Given the description of an element on the screen output the (x, y) to click on. 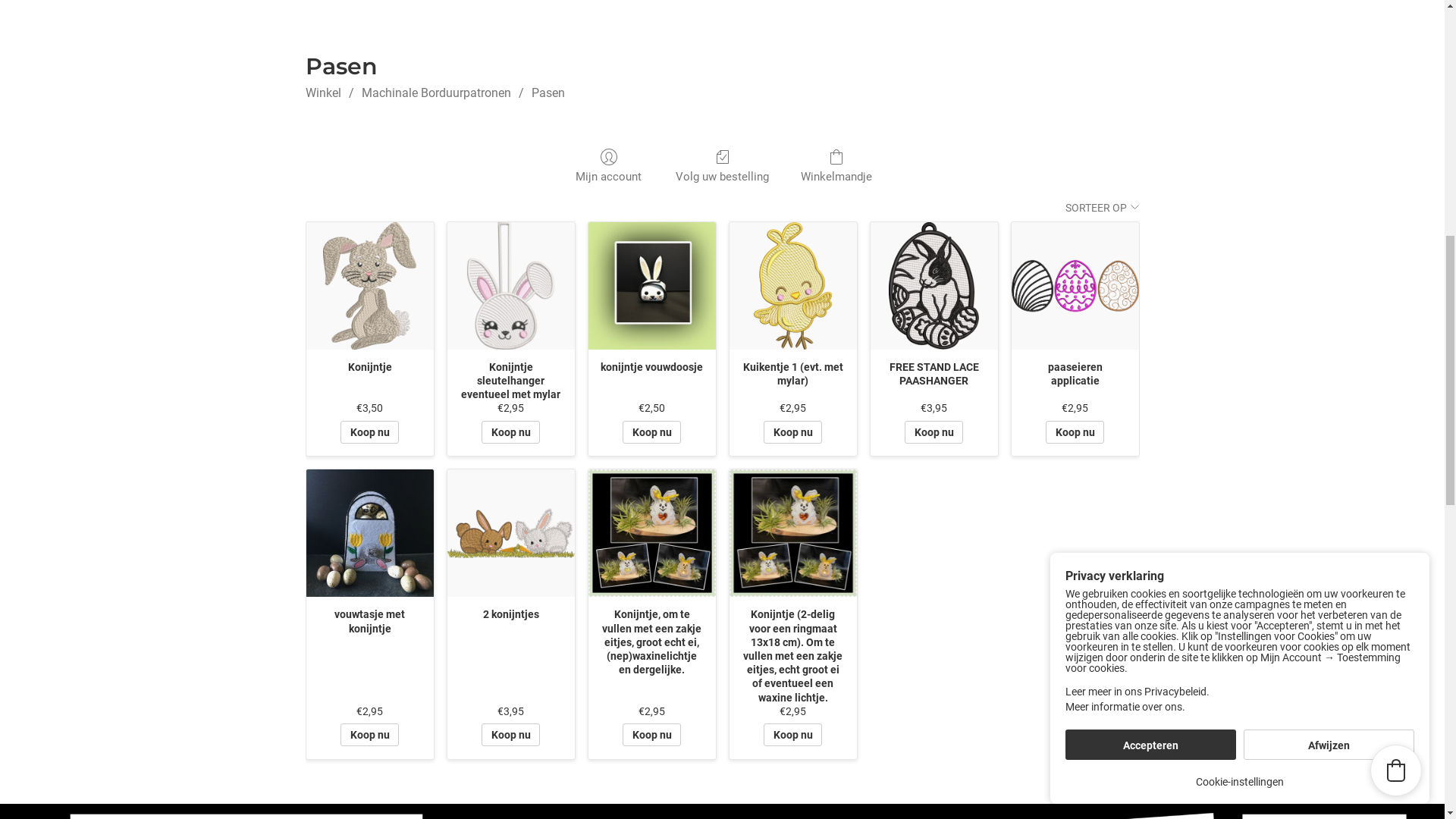
Machinale Borduurpatronen Element type: text (774, 175)
Iets Laten Borduren Element type: text (350, 175)
Borduurbenodigdheden Element type: text (610, 175)
Contact Element type: text (407, 45)
Borduurmachines Element type: text (474, 175)
Over ons Element type: text (355, 45)
Machinale Borduurpatronen Element type: text (435, 775)
Pasen Element type: text (547, 775)
Winkel Element type: text (322, 775)
Home Element type: text (306, 45)
